Given the description of an element on the screen output the (x, y) to click on. 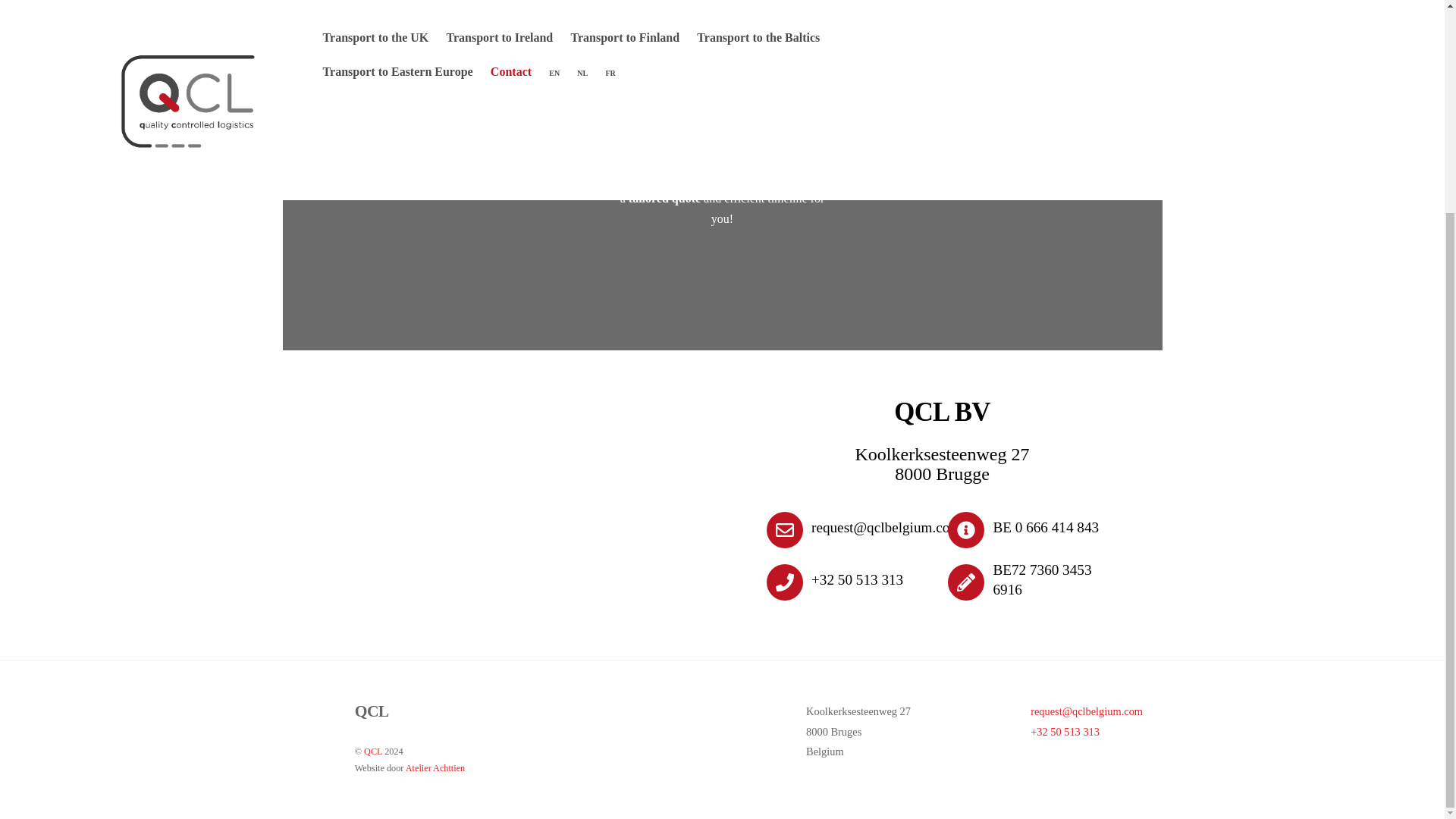
QCL (372, 751)
QCL (371, 710)
Atelier Achttien (435, 767)
QCL (371, 710)
